Given the description of an element on the screen output the (x, y) to click on. 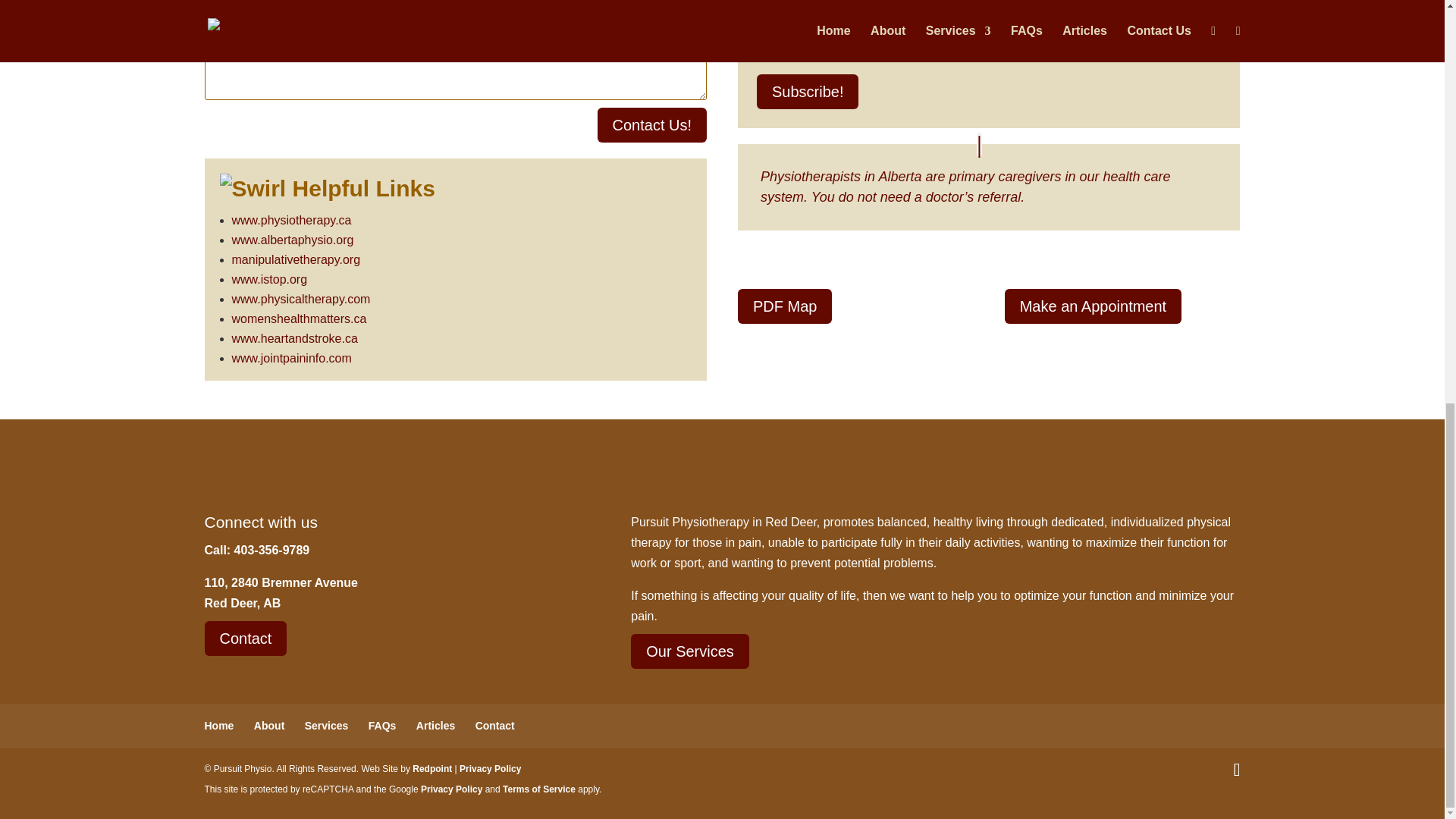
Subscribe! (808, 91)
www.heartandstroke.ca (294, 338)
About (268, 725)
Make an Appointment (1092, 306)
www.physiotherapy.ca (291, 219)
Contact Us! (651, 124)
womenshealthmatters.ca (298, 318)
Contact (245, 638)
Home (219, 725)
www.albertaphysio.org (292, 239)
